Given the description of an element on the screen output the (x, y) to click on. 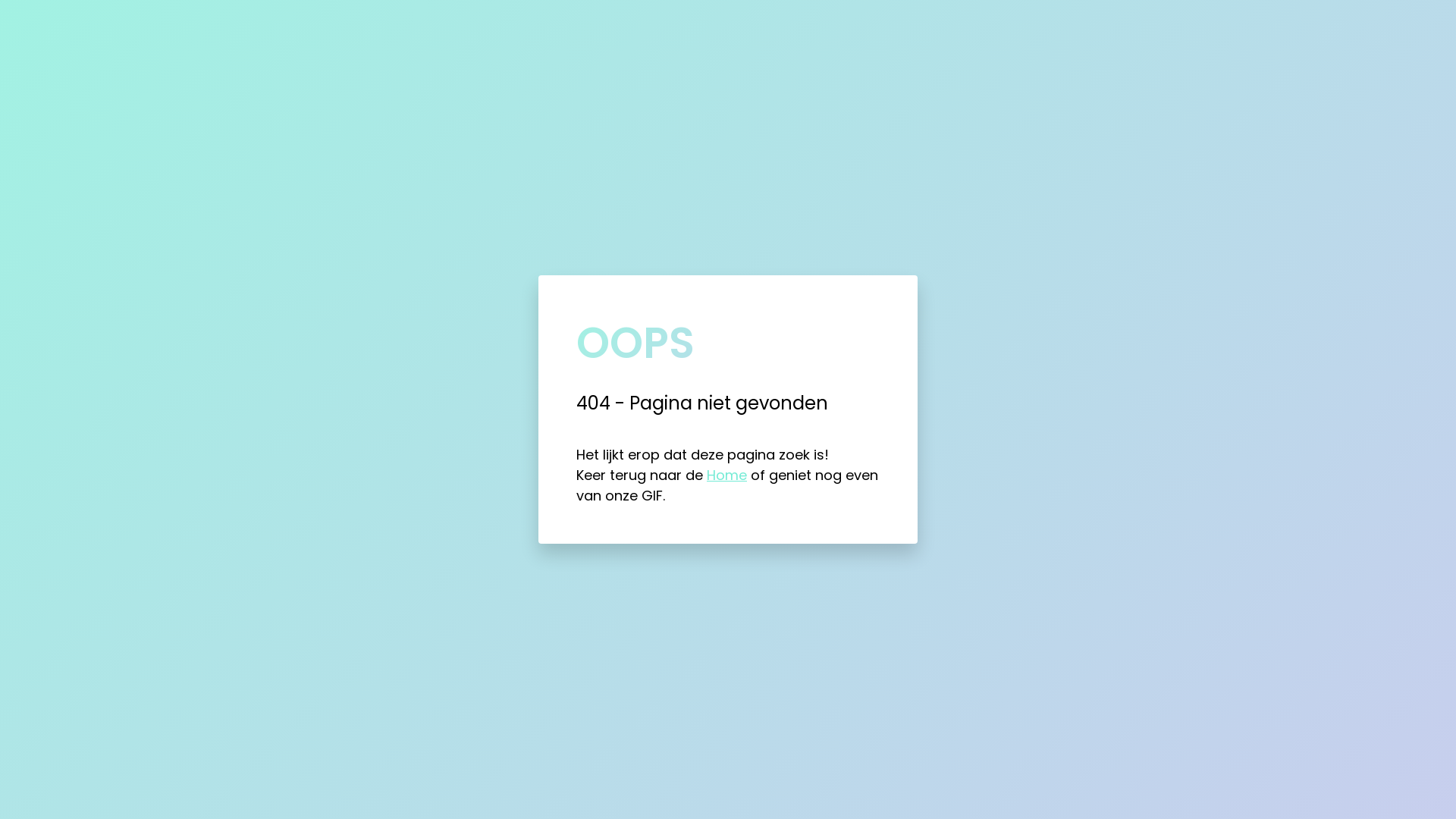
Home Element type: text (726, 474)
